Given the description of an element on the screen output the (x, y) to click on. 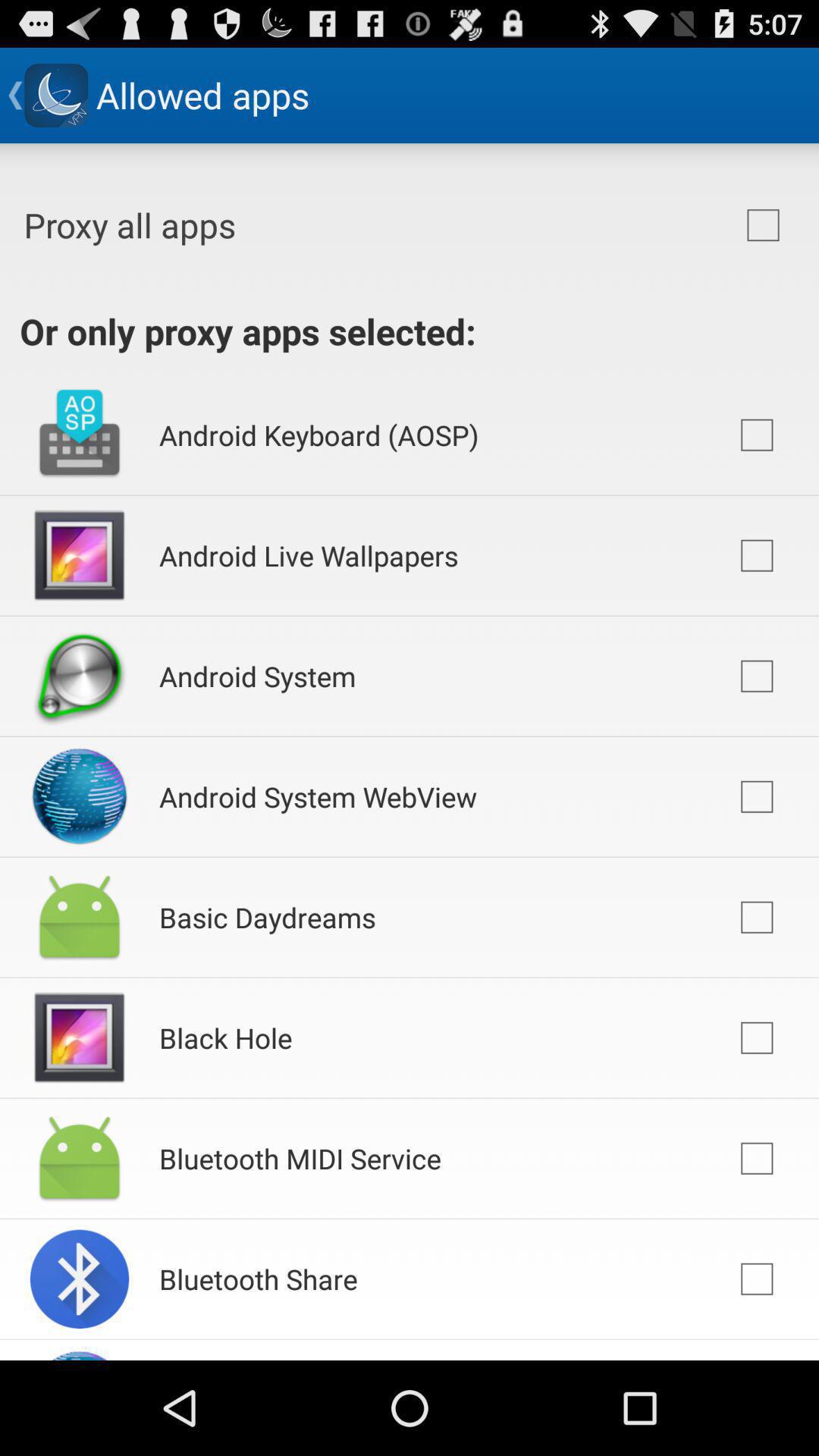
click the black hole item (225, 1037)
